Given the description of an element on the screen output the (x, y) to click on. 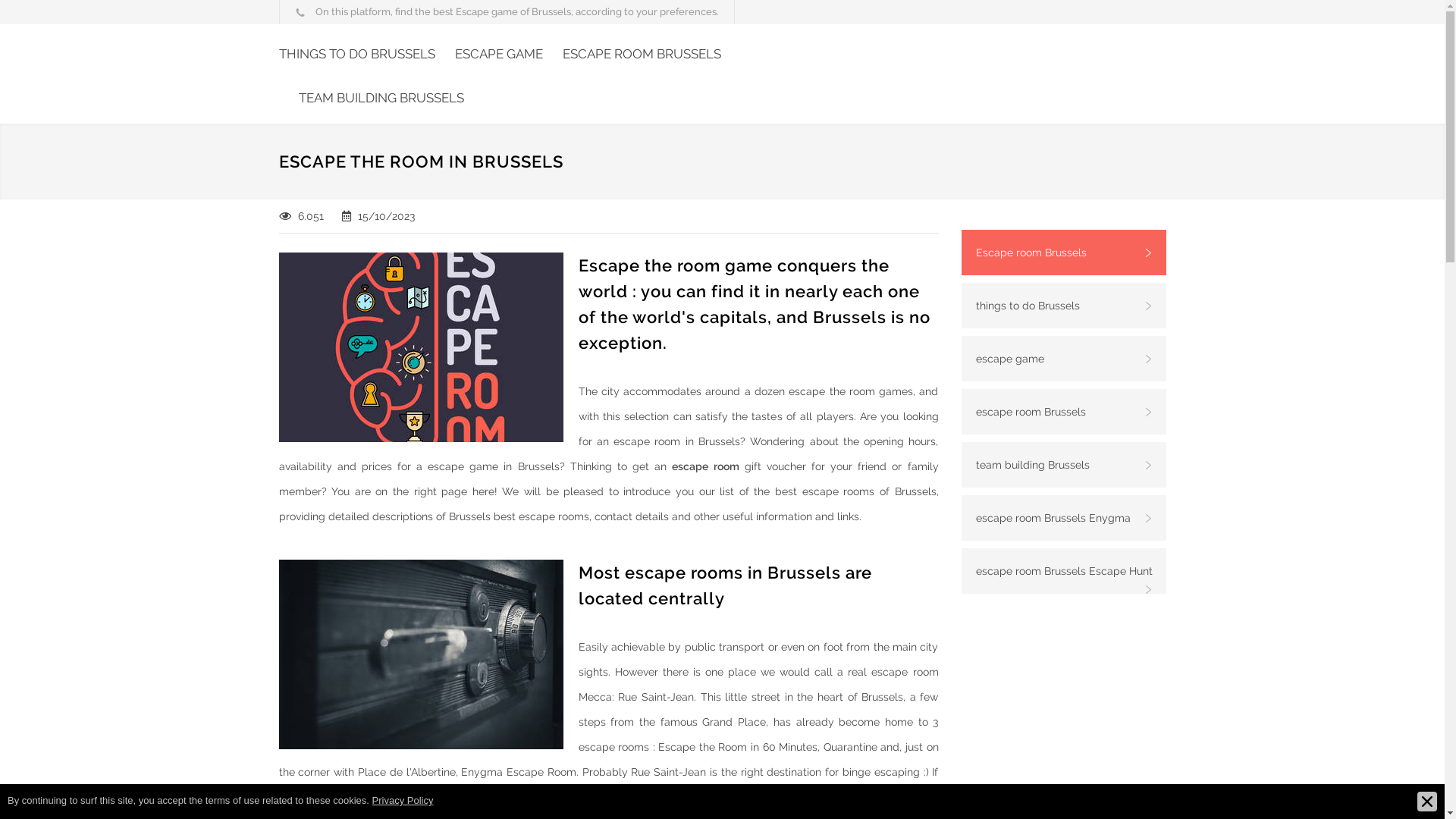
ESCAPE ROOM BRUSSELS Element type: text (631, 57)
escape room Brussels Element type: text (1063, 411)
escape room Brussels Enygma Element type: text (1063, 517)
THINGS TO DO BRUSSELS Element type: text (357, 57)
team building Brussels Element type: text (1063, 464)
ESCAPE GAME Element type: text (488, 57)
SENDING... Element type: text (46, 18)
escape game Element type: text (1063, 358)
escape room Brussels Escape Hunt Element type: text (1063, 570)
things to do Brussels Element type: text (1063, 305)
Escape room Brussels Element type: text (1063, 252)
escape room Element type: text (704, 466)
Privacy Policy Element type: text (402, 800)
TEAM BUILDING BRUSSELS Element type: text (371, 101)
